Given the description of an element on the screen output the (x, y) to click on. 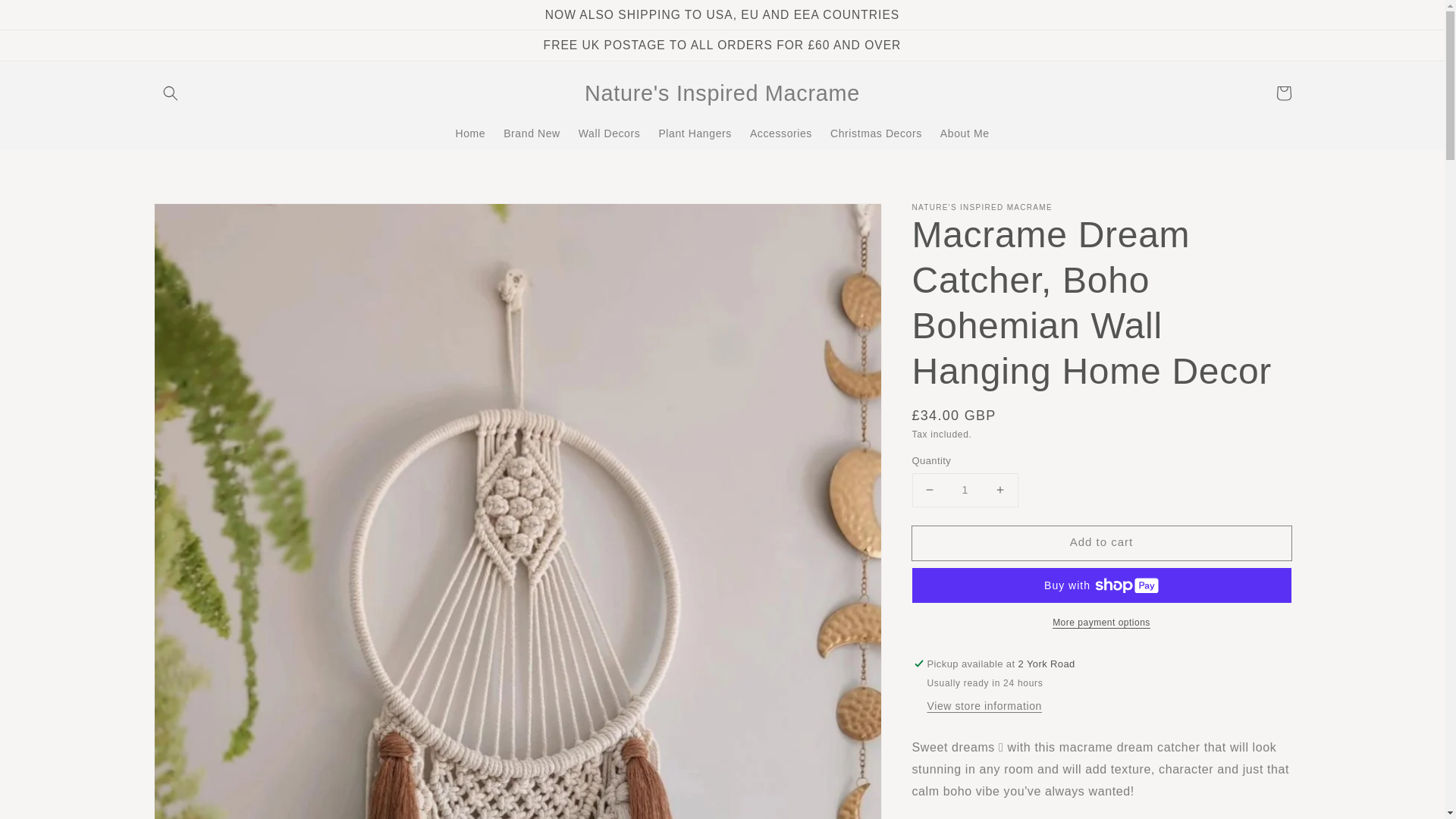
1 (964, 490)
Home (470, 133)
Christmas Decors (876, 133)
Cart (1283, 92)
Brand New (532, 133)
Wall Decors (609, 133)
Nature's Inspired Macrame (722, 92)
Accessories (781, 133)
About Me (964, 133)
Skip to product information (198, 219)
Plant Hangers (695, 133)
Skip to content (45, 16)
